Given the description of an element on the screen output the (x, y) to click on. 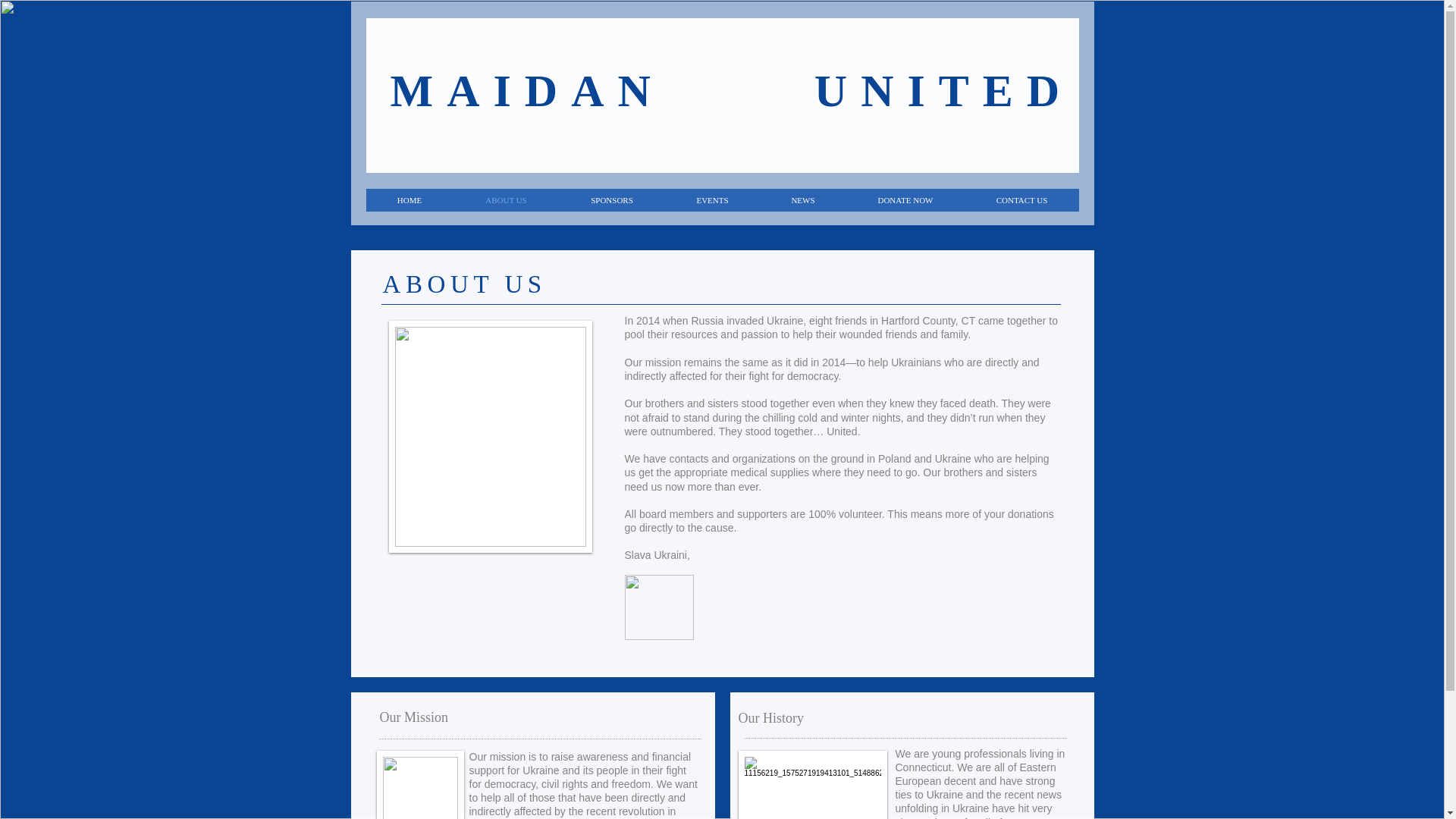
SPONSORS (610, 200)
ABOUT US (505, 200)
DONATE NOW (904, 200)
EVENTS (710, 200)
logo maidan united.jpg (659, 606)
HOME (408, 200)
CONTACT US (1020, 200)
NEWS (802, 200)
